Given the description of an element on the screen output the (x, y) to click on. 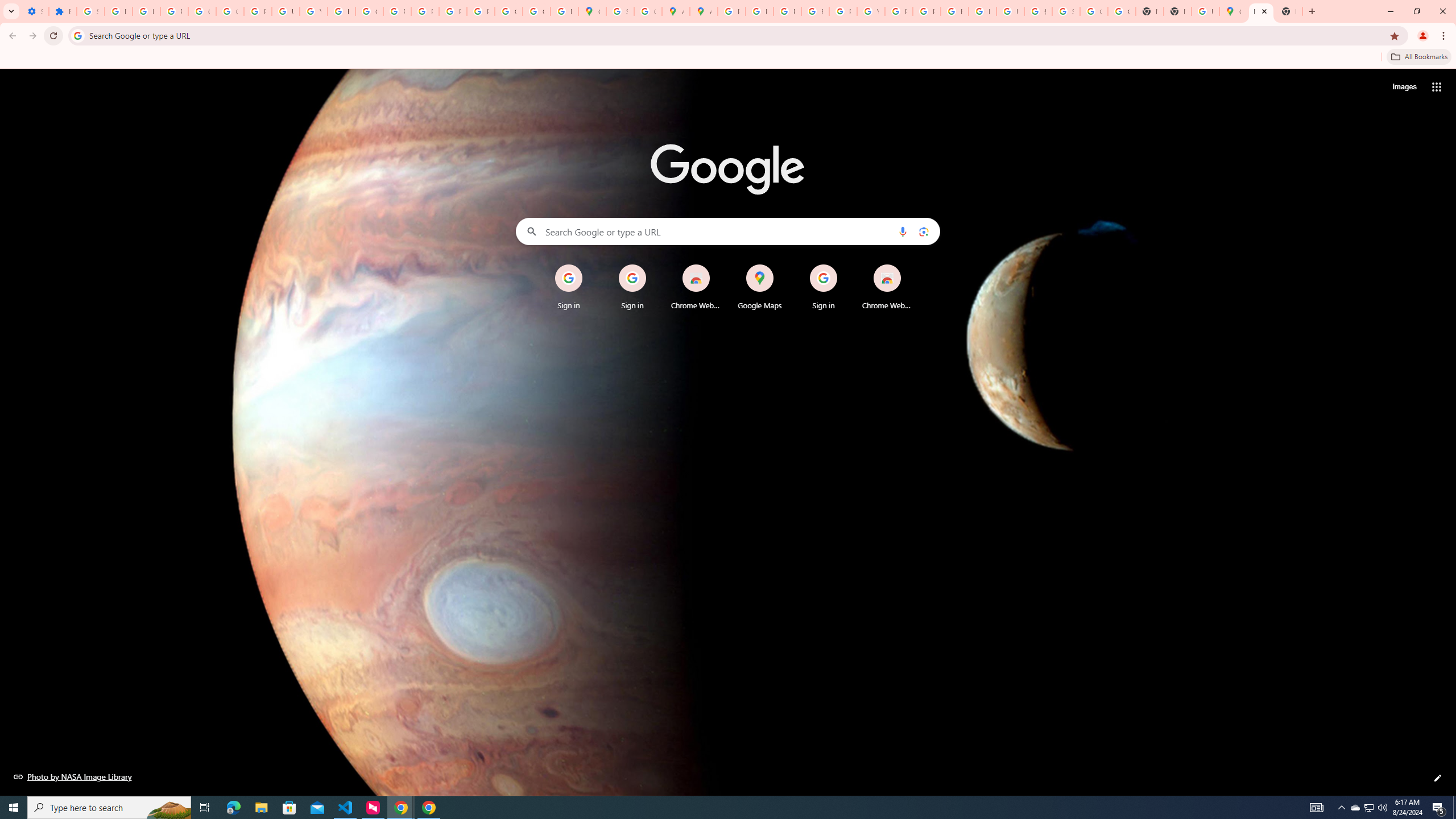
Remove (909, 265)
Google Maps (1233, 11)
New Tab (1288, 11)
